Given the description of an element on the screen output the (x, y) to click on. 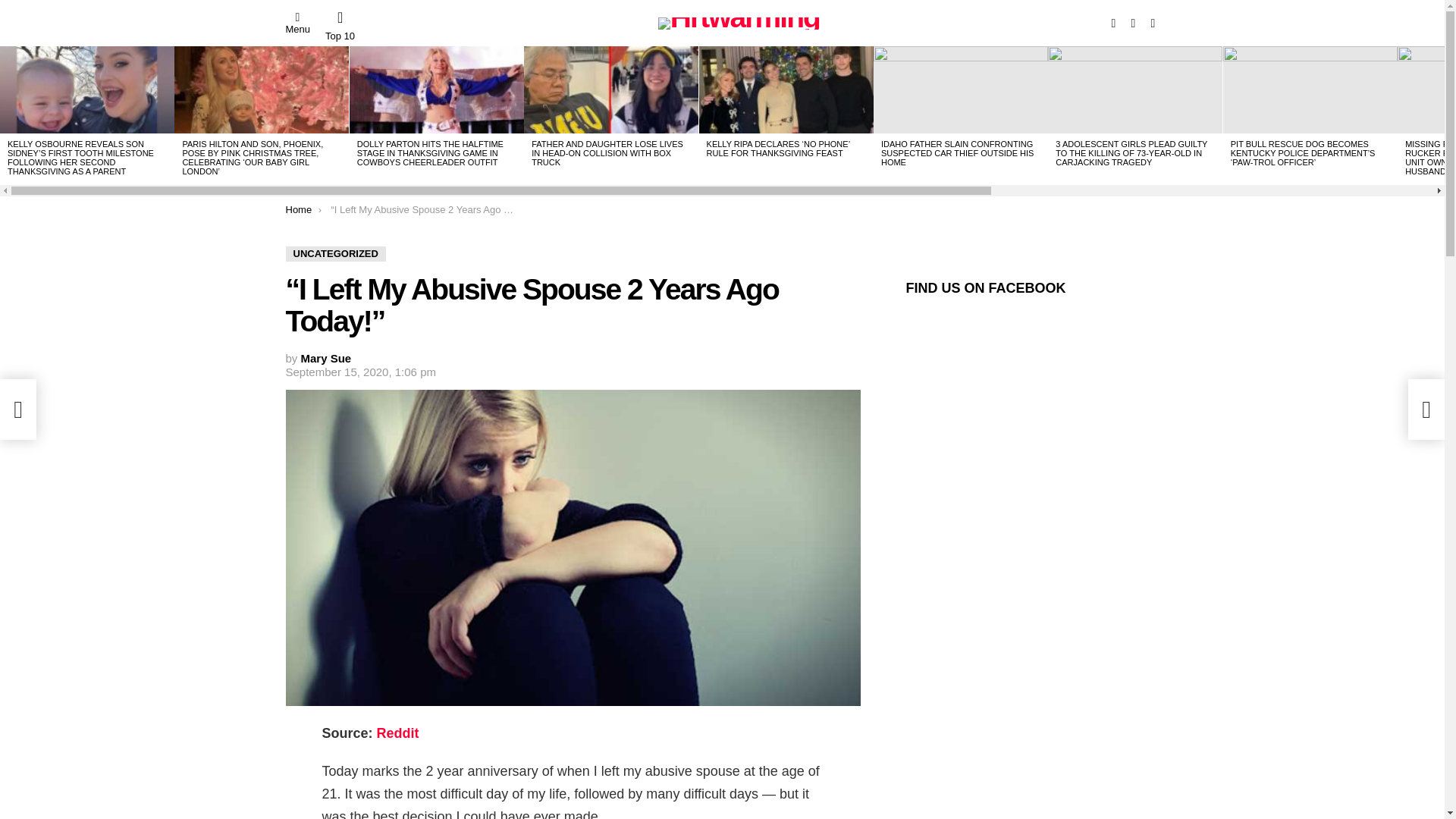
Top 10 (339, 25)
Posts by Mary Sue (326, 358)
UNCATEGORIZED (335, 253)
Home (298, 209)
